Given the description of an element on the screen output the (x, y) to click on. 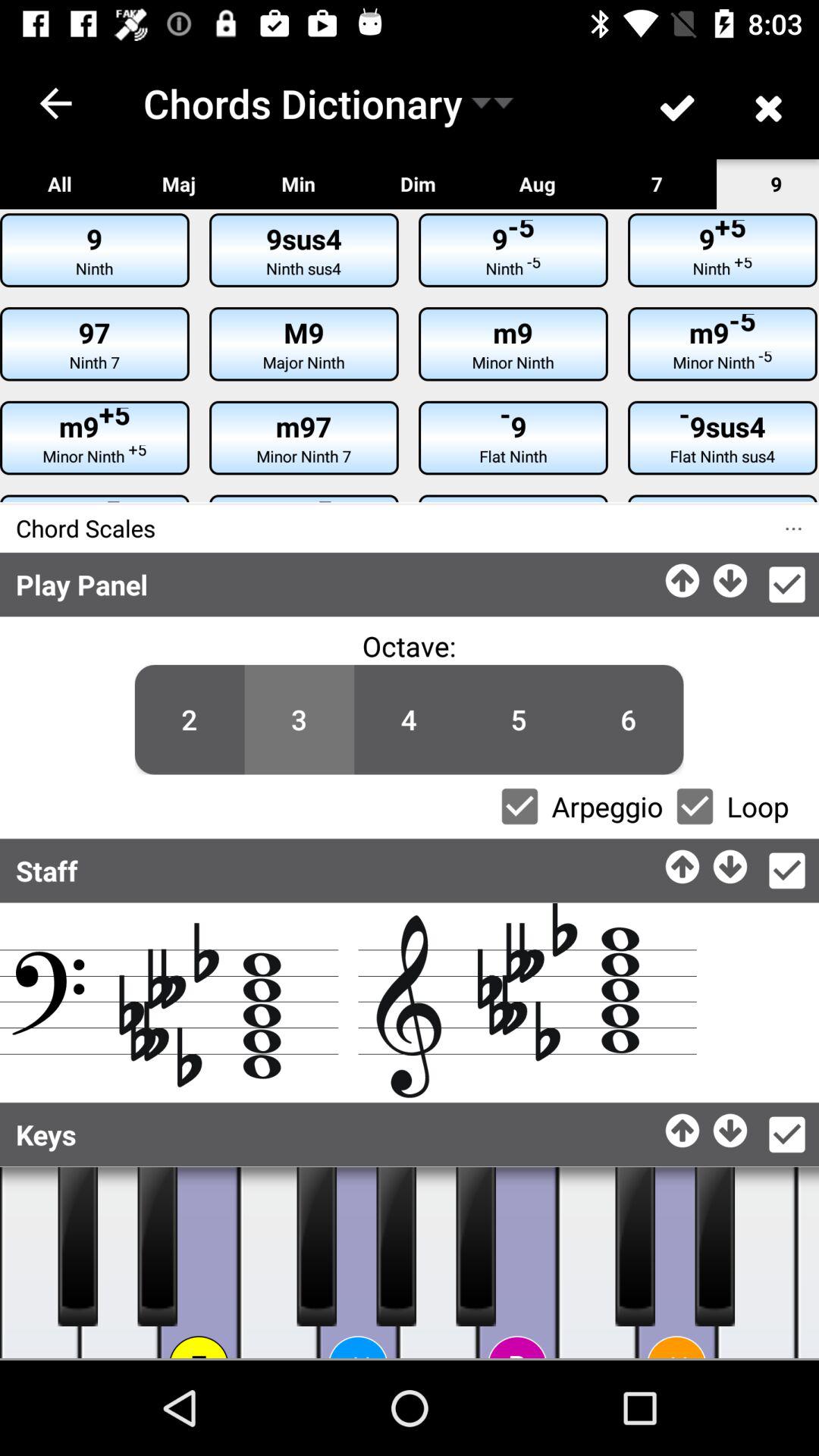
go down option (731, 862)
